Given the description of an element on the screen output the (x, y) to click on. 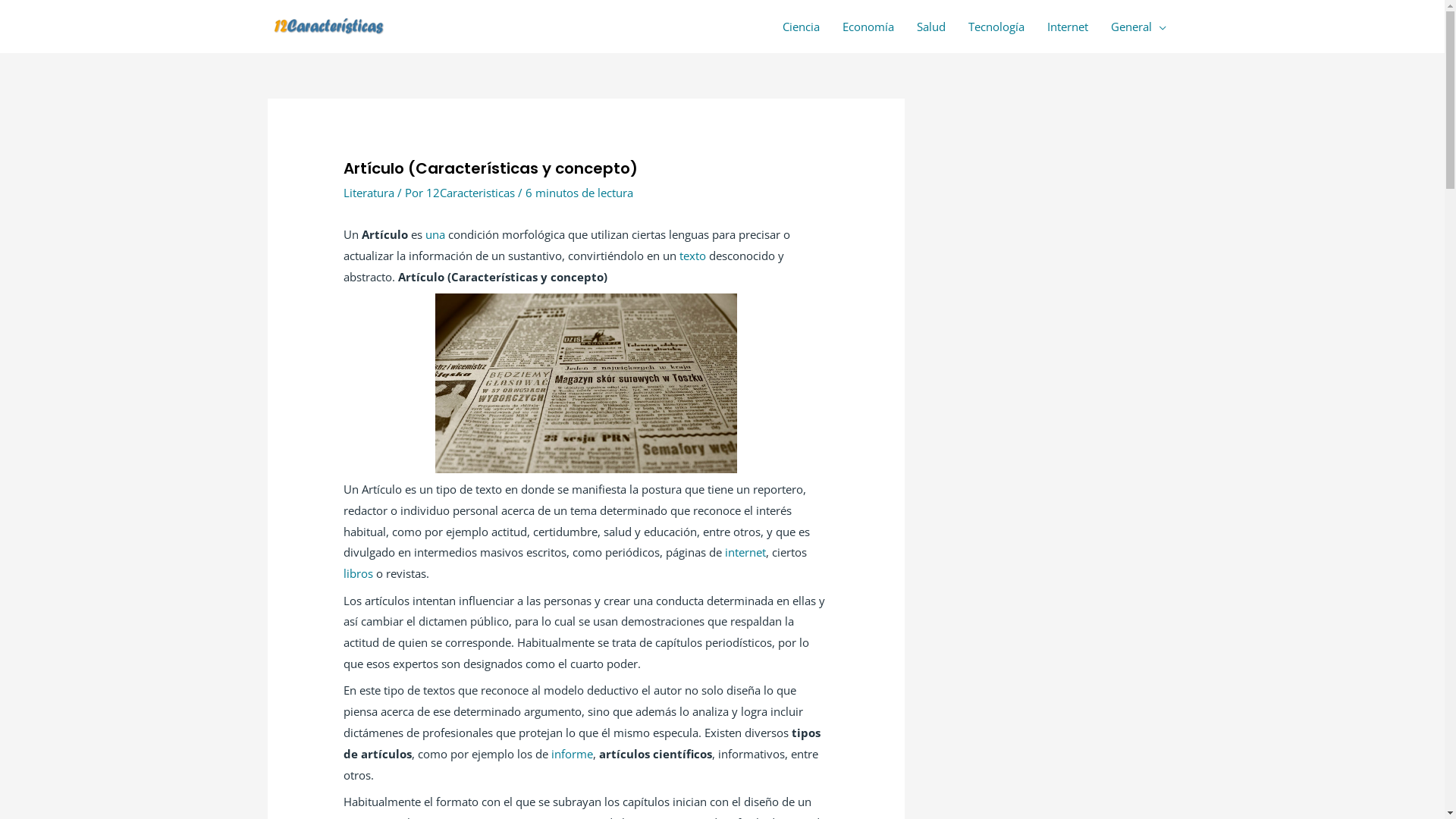
texto Element type: text (692, 255)
informe Element type: text (572, 753)
Salud Element type: text (931, 26)
Internet Element type: text (1067, 26)
internet Element type: text (744, 551)
12Caracteristicas Element type: text (471, 192)
una Element type: text (435, 233)
Literatura Element type: text (368, 192)
General Element type: text (1138, 26)
libros Element type: text (358, 572)
Ciencia Element type: text (800, 26)
